Given the description of an element on the screen output the (x, y) to click on. 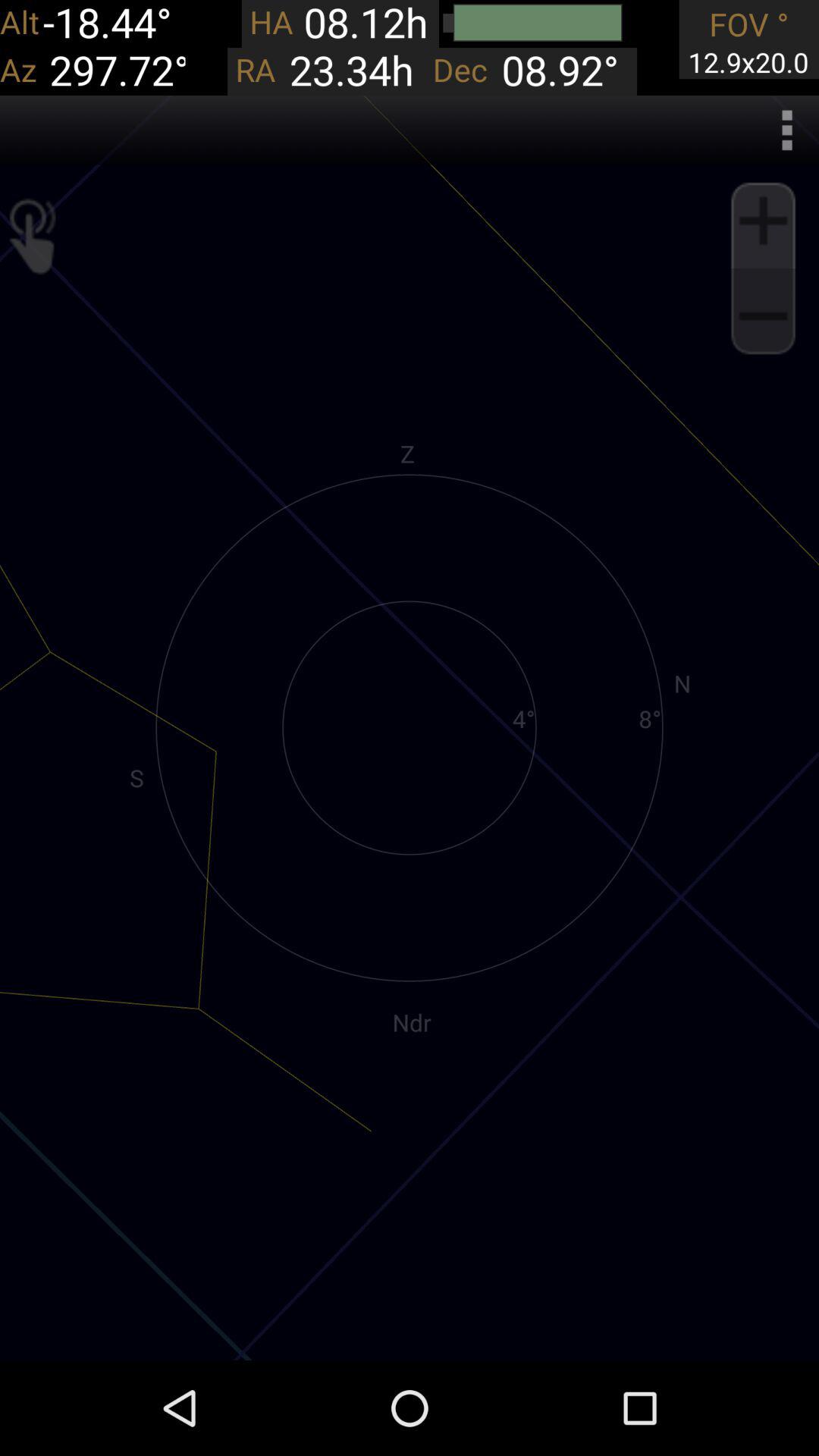
zoom out (763, 316)
